Given the description of an element on the screen output the (x, y) to click on. 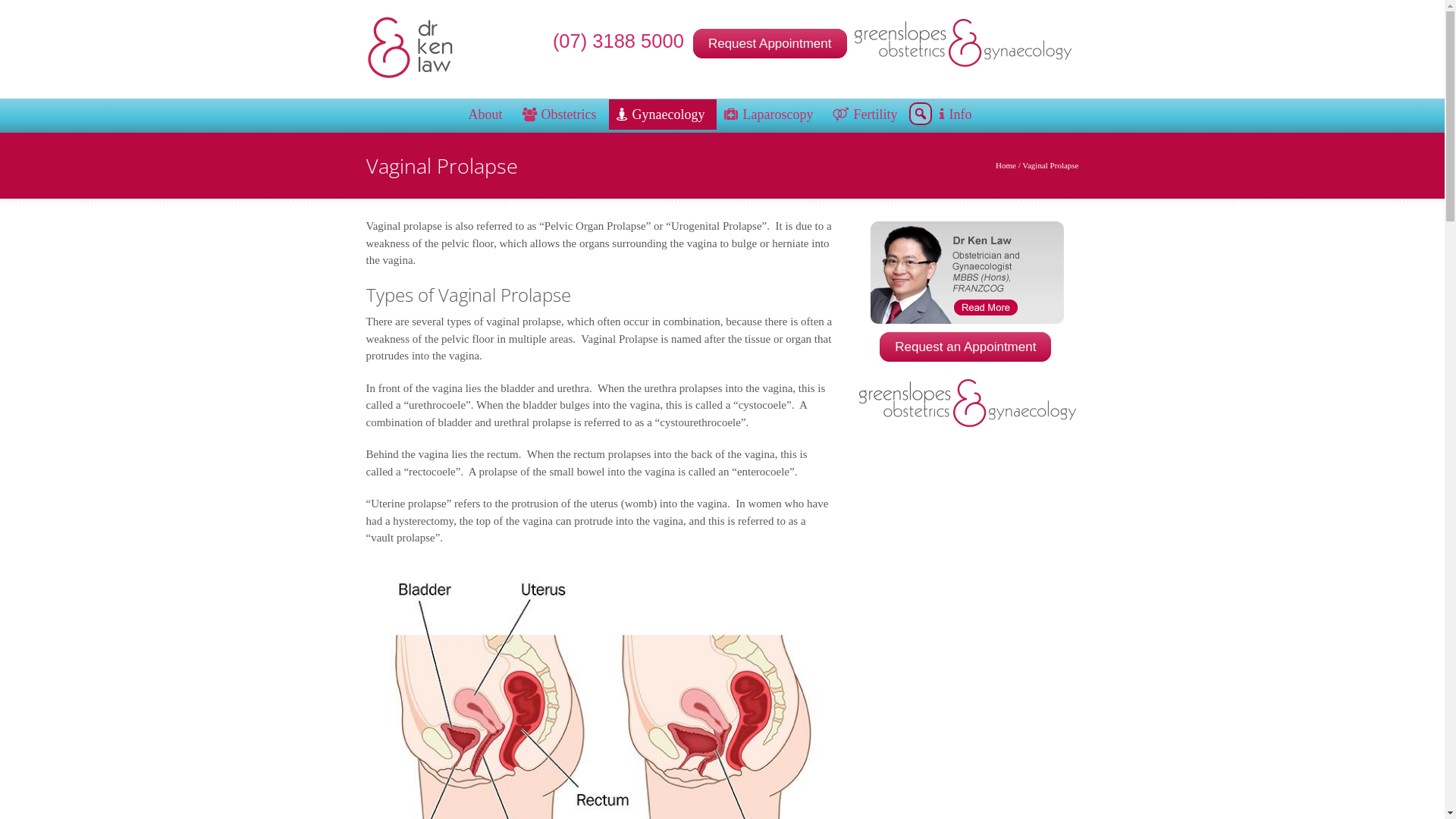
Home Element type: text (1005, 164)
Request Appointment Element type: text (770, 43)
Info Element type: text (957, 114)
Laparoscopy Element type: text (770, 114)
Gynaecology Element type: text (662, 114)
About Element type: text (487, 114)
(07) 3188 5000 Element type: text (620, 40)
Search Element type: text (11, 12)
Request an Appointment Element type: text (965, 346)
Obstetrics Element type: text (561, 114)
Fertility Element type: text (867, 114)
